Given the description of an element on the screen output the (x, y) to click on. 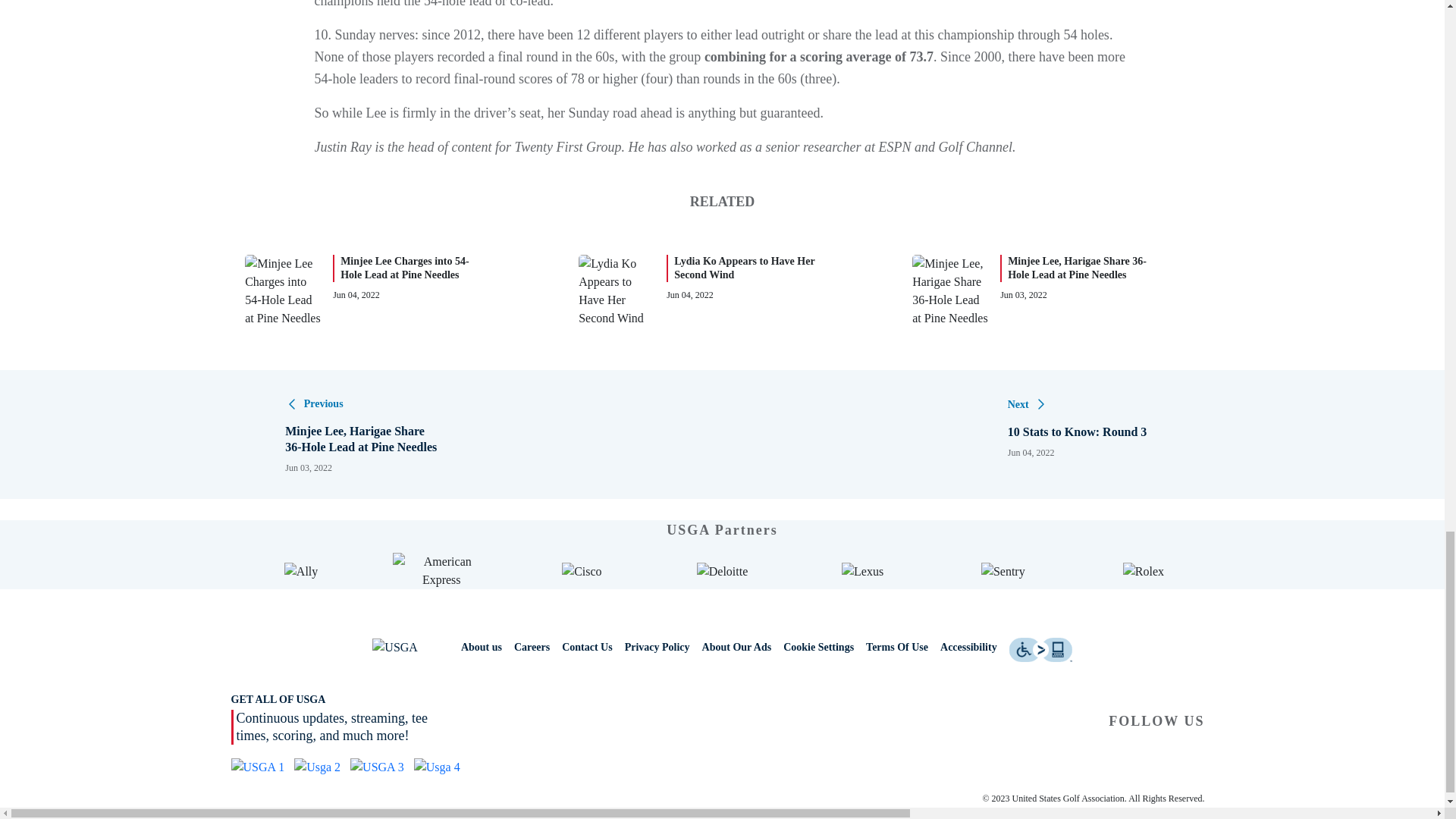
Deloitte (722, 571)
Lexus (862, 571)
American Express (441, 570)
Ally (300, 571)
